Given the description of an element on the screen output the (x, y) to click on. 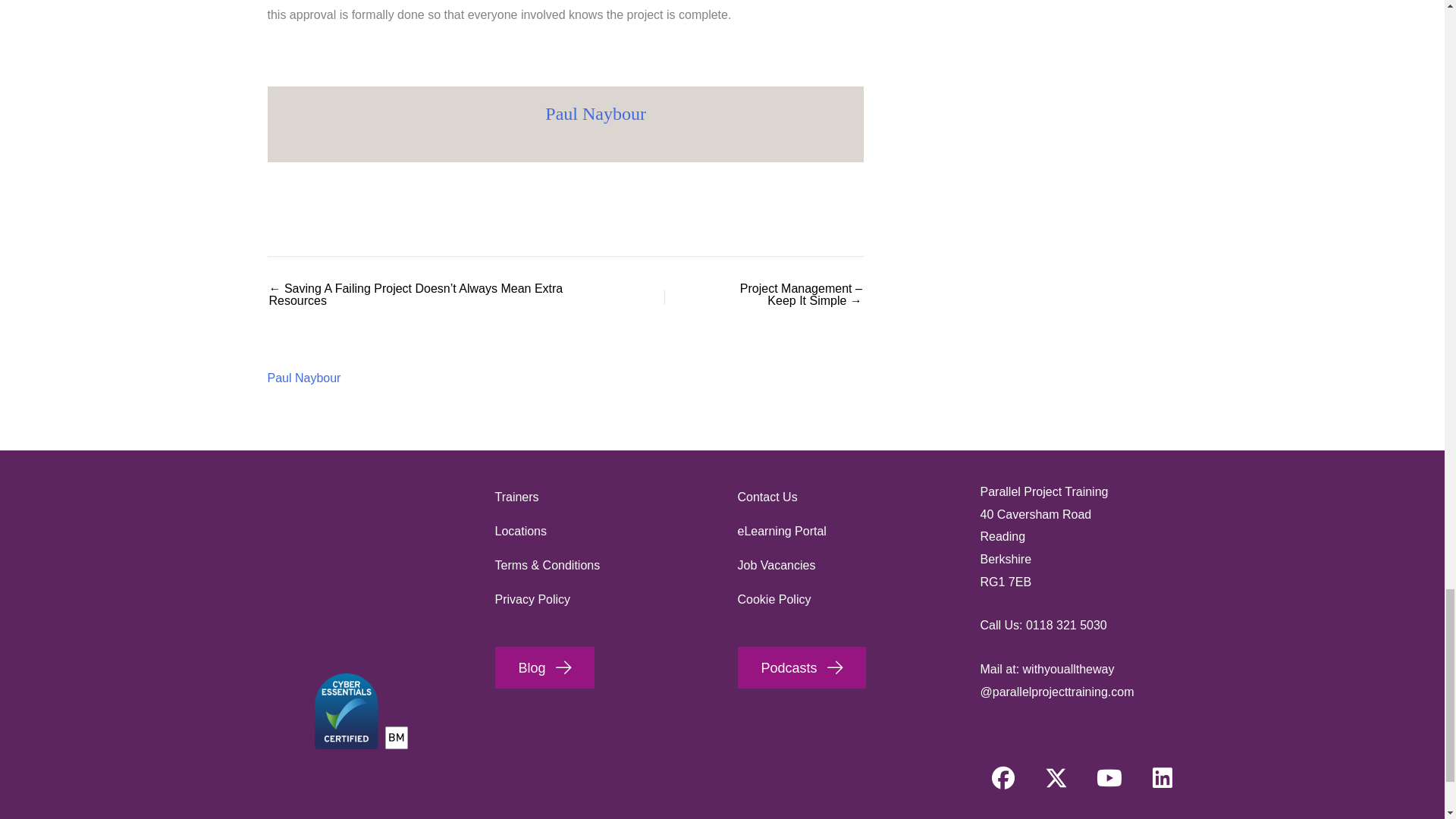
LinkedIn (1161, 777)
YouTube (1108, 777)
Facebook (1002, 777)
white-geese-logo-min (357, 555)
